Given the description of an element on the screen output the (x, y) to click on. 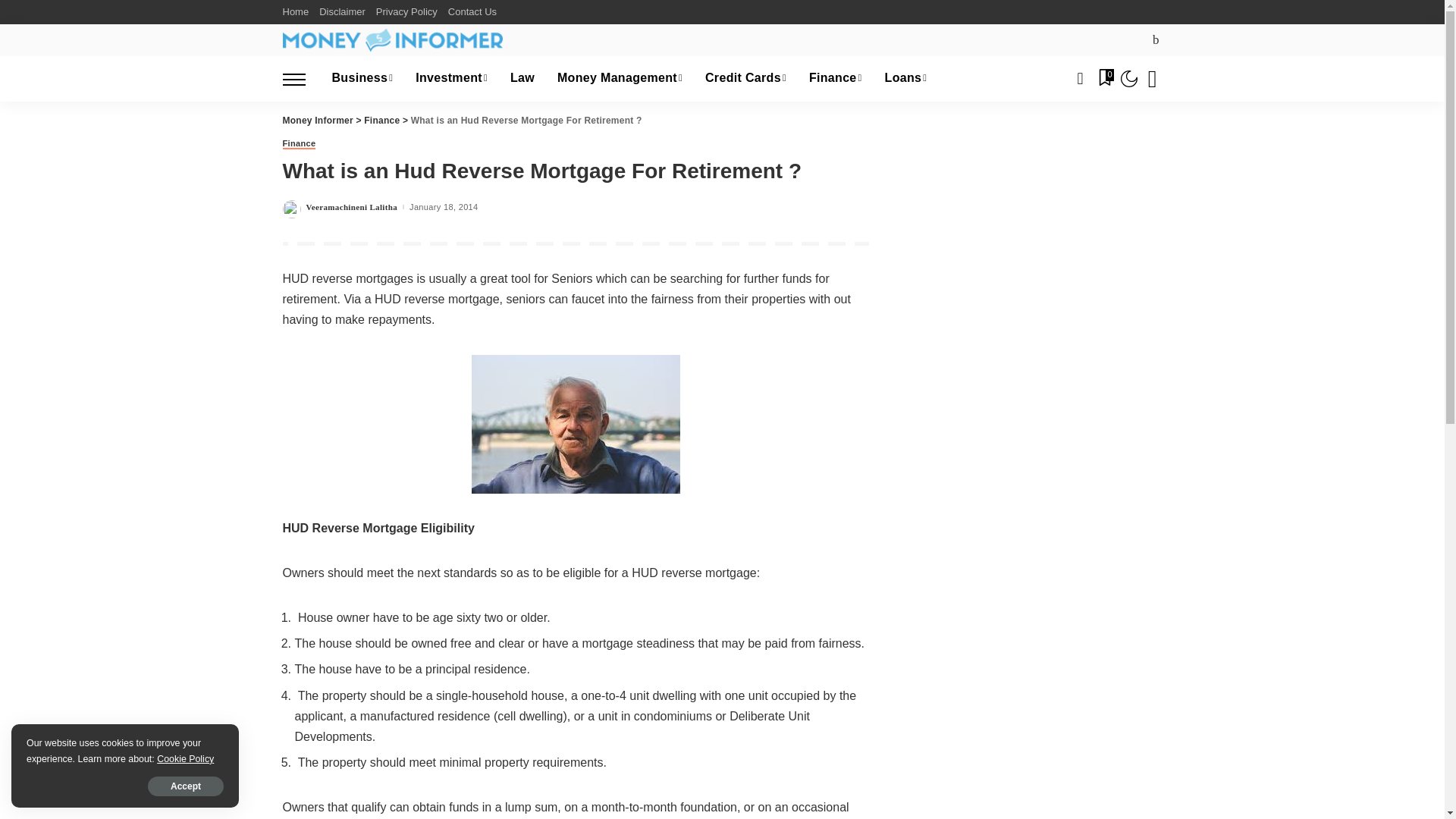
Money Informer (392, 39)
Privacy Policy (406, 11)
Home (298, 11)
Business (362, 78)
Disclaimer (342, 11)
Contact Us (472, 11)
